Given the description of an element on the screen output the (x, y) to click on. 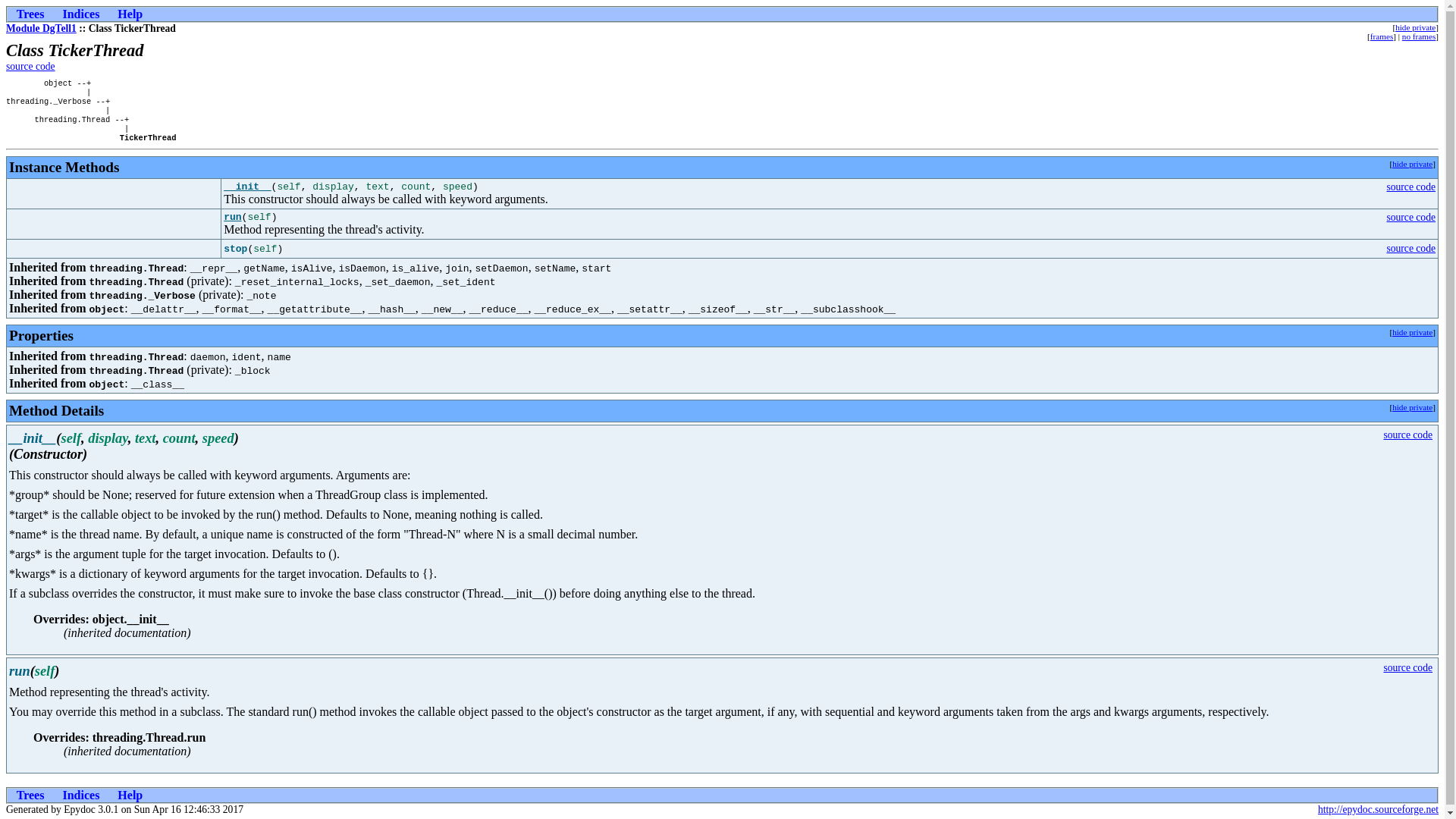
run Element type: text (232, 216)
source code Element type: text (1407, 434)
source code Element type: text (1410, 248)
Trees Element type: text (30, 13)
hide private Element type: text (1412, 163)
hide private Element type: text (1415, 26)
Module DgTell1 Element type: text (41, 28)
hide private Element type: text (1412, 406)
source code Element type: text (30, 66)
source code Element type: text (1410, 186)
no frames Element type: text (1418, 35)
Trees Element type: text (30, 794)
__init__ Element type: text (246, 186)
http://epydoc.sourceforge.net Element type: text (1377, 809)
frames Element type: text (1381, 35)
Help Element type: text (129, 794)
source code Element type: text (1410, 216)
source code Element type: text (1407, 667)
hide private Element type: text (1412, 331)
Help Element type: text (129, 13)
Indices Element type: text (80, 794)
Indices Element type: text (80, 13)
